Given the description of an element on the screen output the (x, y) to click on. 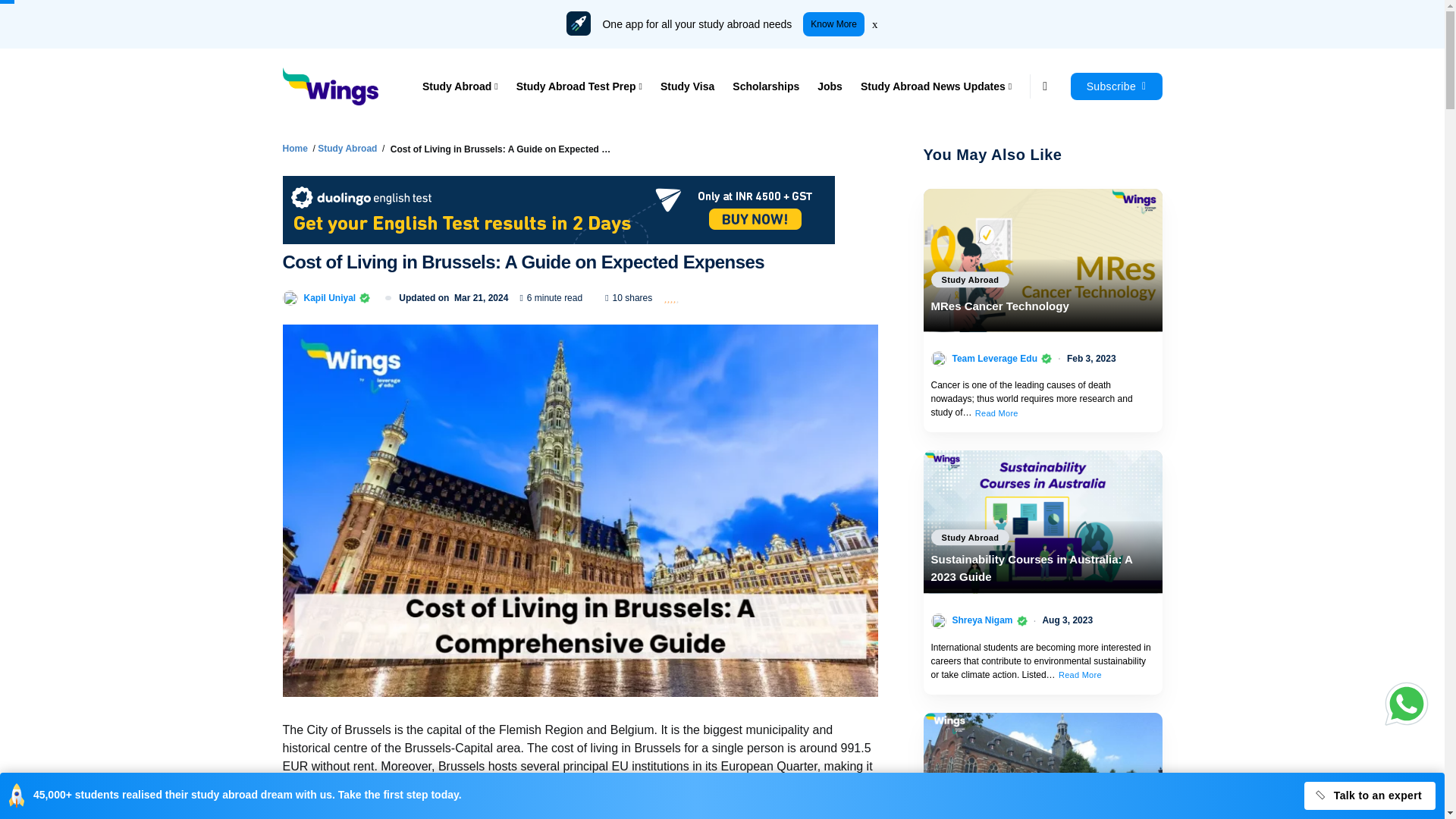
View all posts by Team Leverage Edu (995, 358)
View all posts by Shreya Nigam (982, 620)
View all posts by Kapil Uniyal (328, 297)
